Given the description of an element on the screen output the (x, y) to click on. 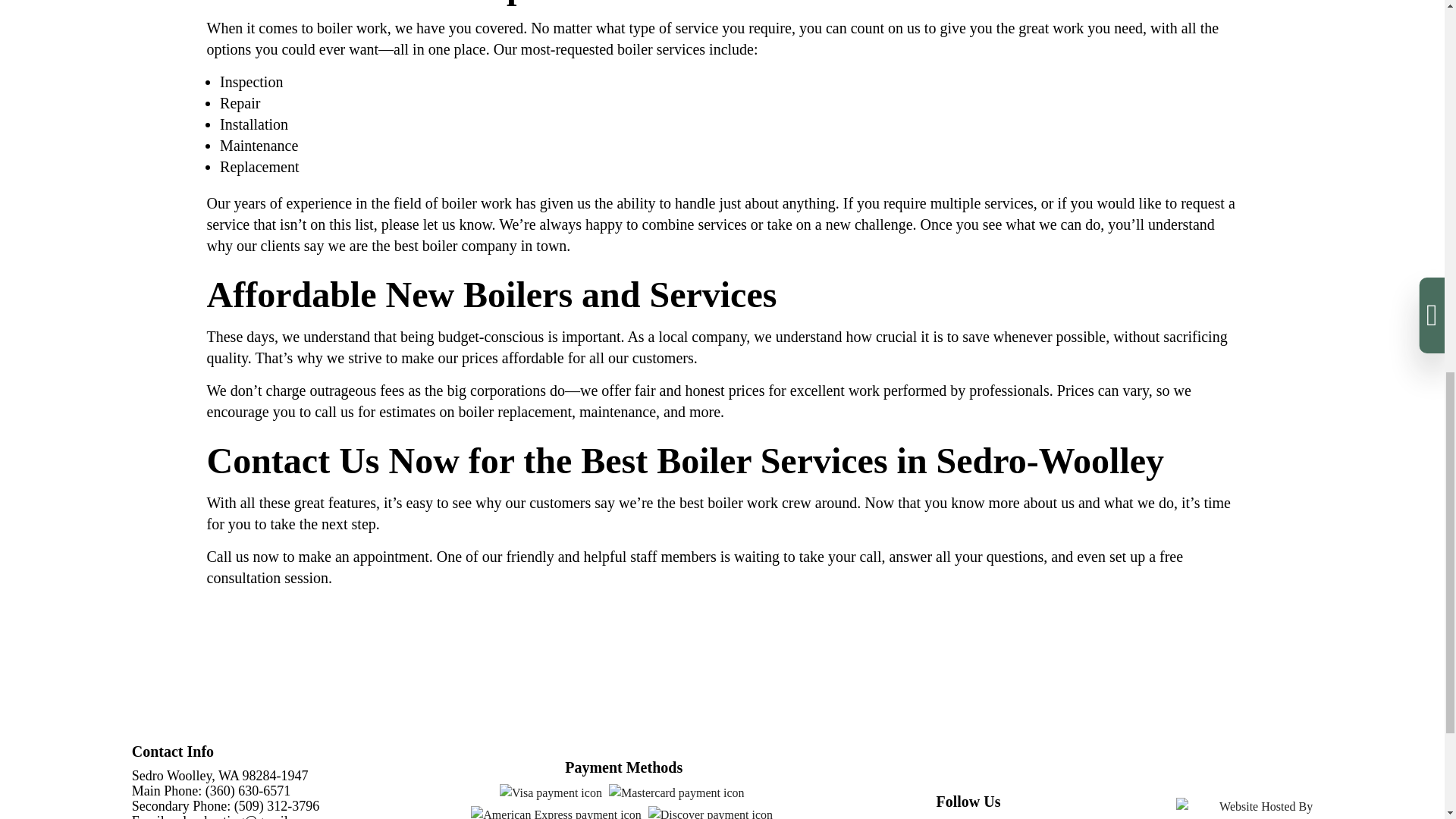
American Express (555, 812)
Mastercard (676, 792)
Visa (550, 792)
Discover (710, 812)
